Given the description of an element on the screen output the (x, y) to click on. 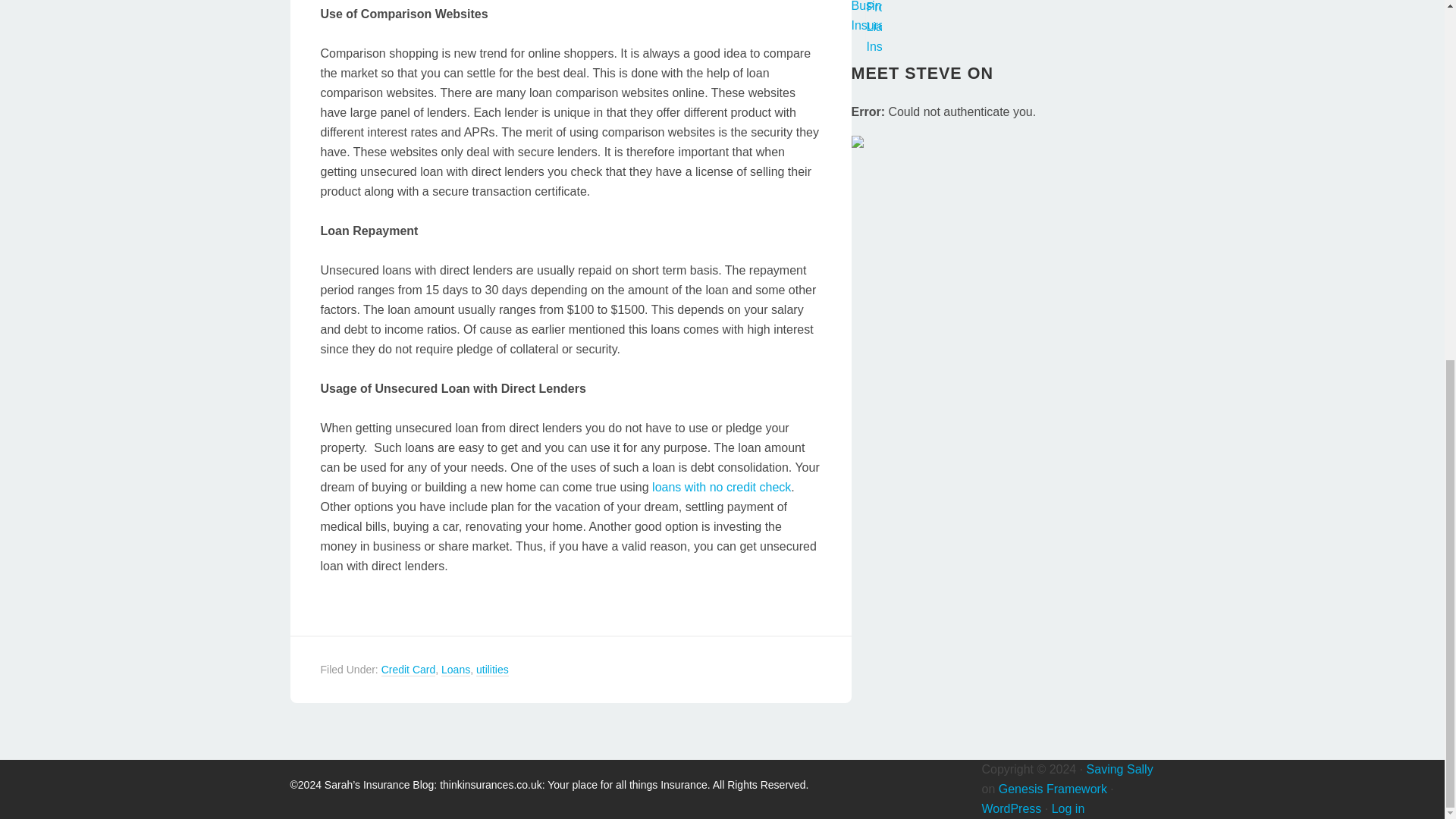
WordPress (1011, 807)
loans with no credit check (721, 486)
Genesis Framework (1052, 788)
Saving Sally (1119, 768)
Credit Card (408, 669)
Log in (1067, 807)
utilities (492, 669)
Loans (455, 669)
